Given the description of an element on the screen output the (x, y) to click on. 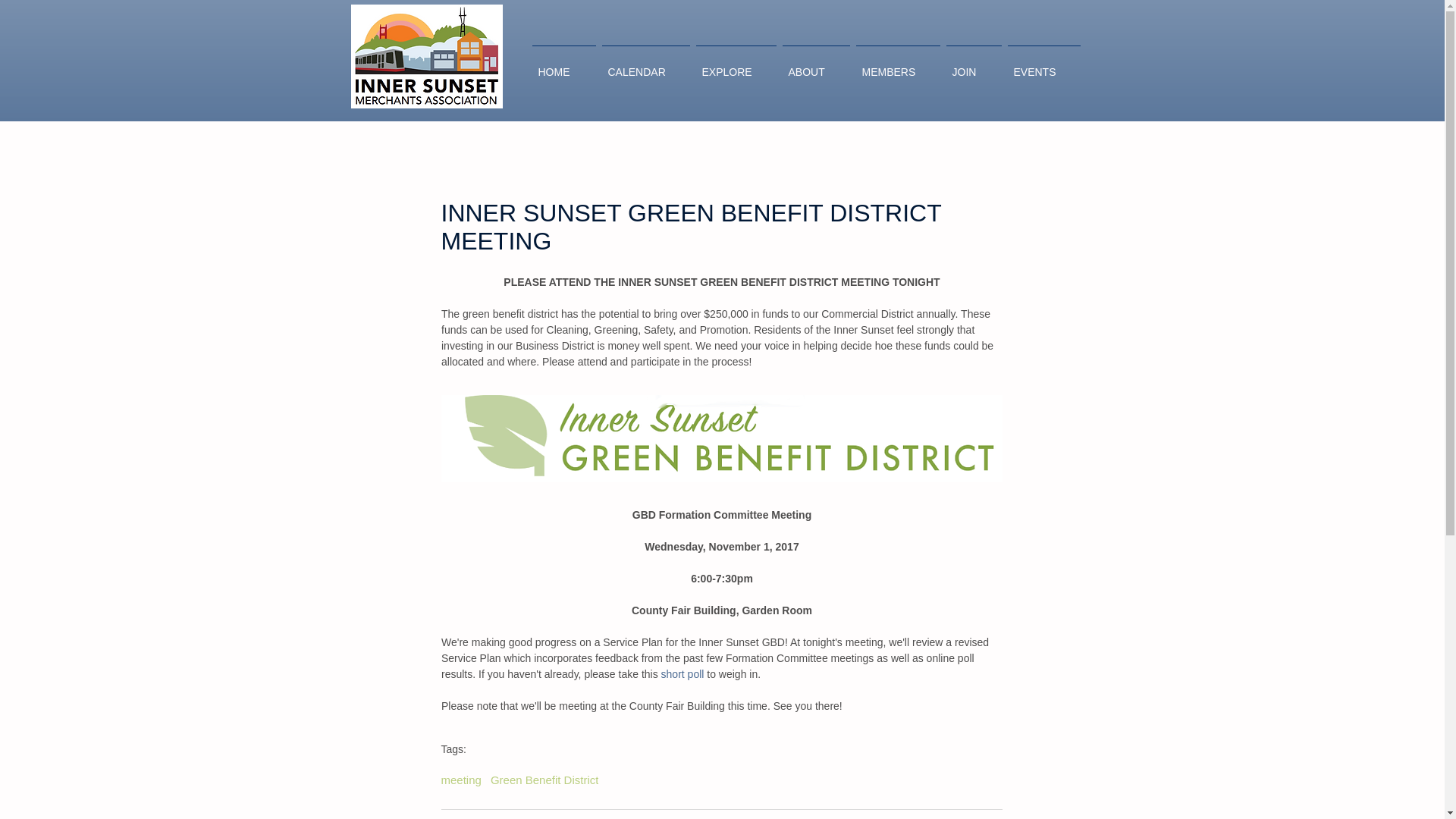
EVENTS (1043, 65)
Green Benefit District (544, 779)
HOME (563, 65)
CALENDAR (645, 65)
ABOUT (815, 65)
JOIN (973, 65)
MEMBERS (896, 65)
short poll (682, 674)
meeting (461, 779)
EXPLORE (735, 65)
